Given the description of an element on the screen output the (x, y) to click on. 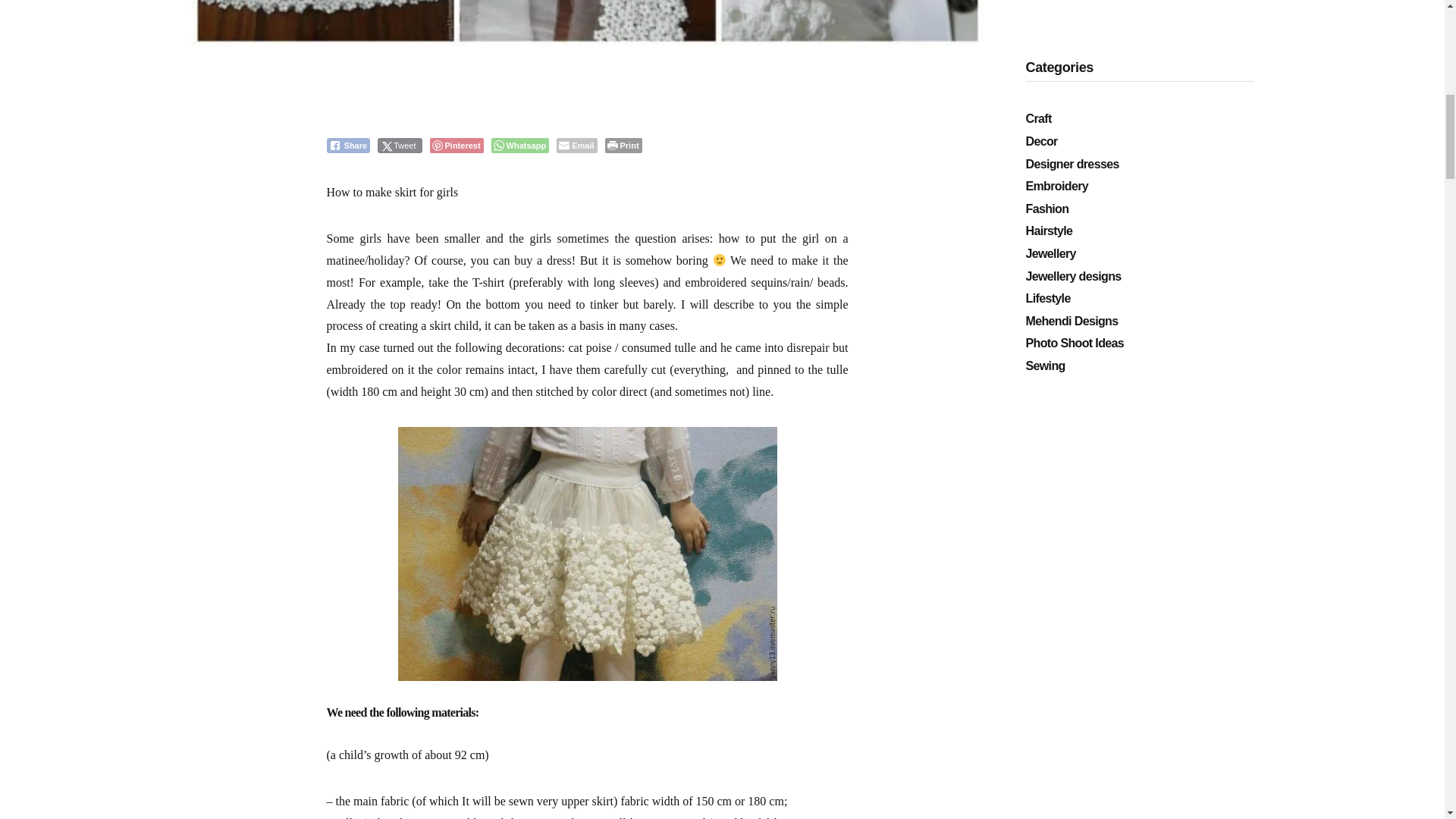
Share (347, 145)
Email (576, 145)
Whatsapp (521, 145)
Print (623, 145)
Tweet (399, 145)
Pinterest (456, 145)
